Given the description of an element on the screen output the (x, y) to click on. 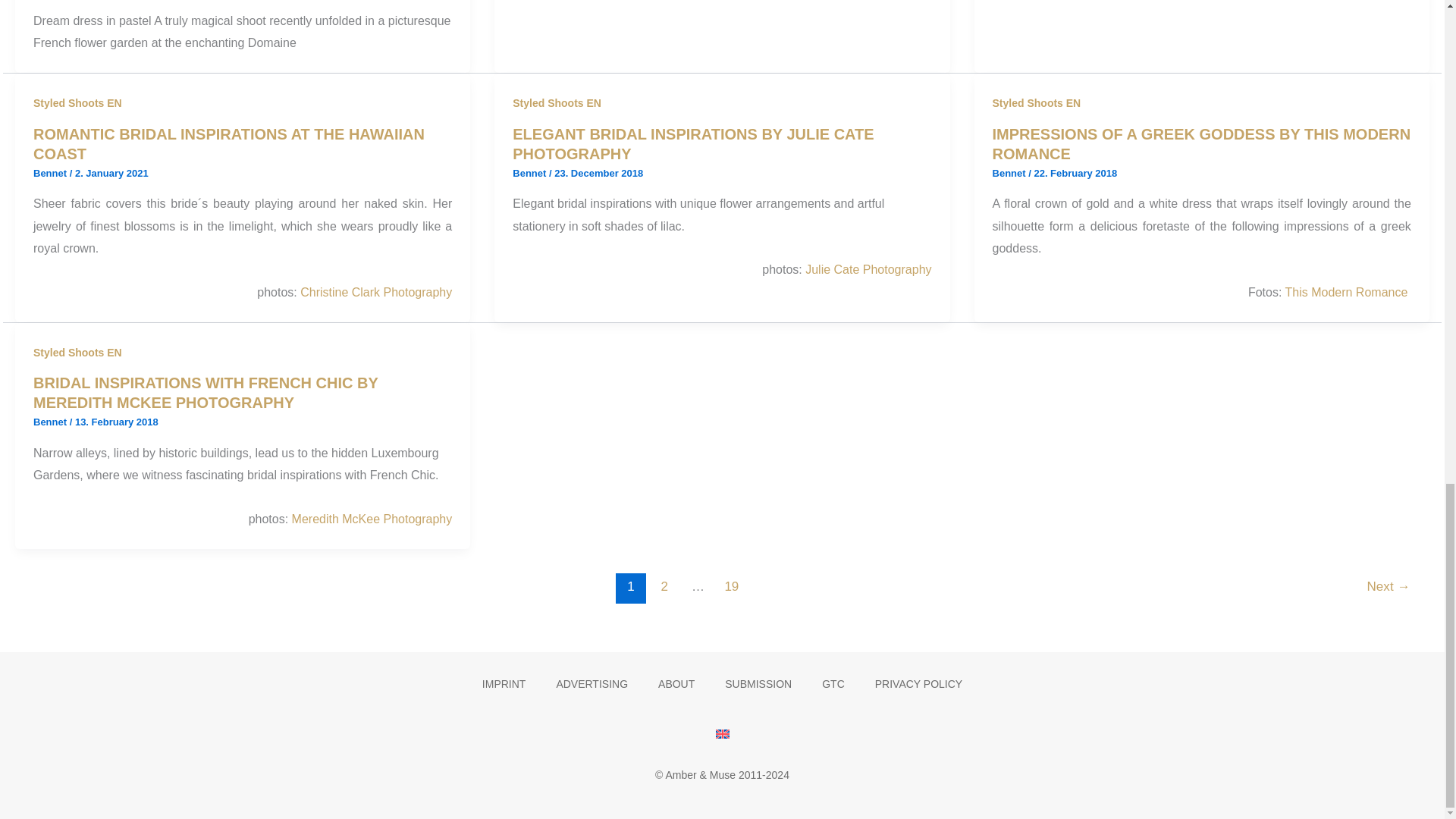
View all posts by Bennet (1010, 173)
View all posts by Bennet (51, 173)
View all posts by Bennet (51, 421)
View all posts by Bennet (530, 173)
